Given the description of an element on the screen output the (x, y) to click on. 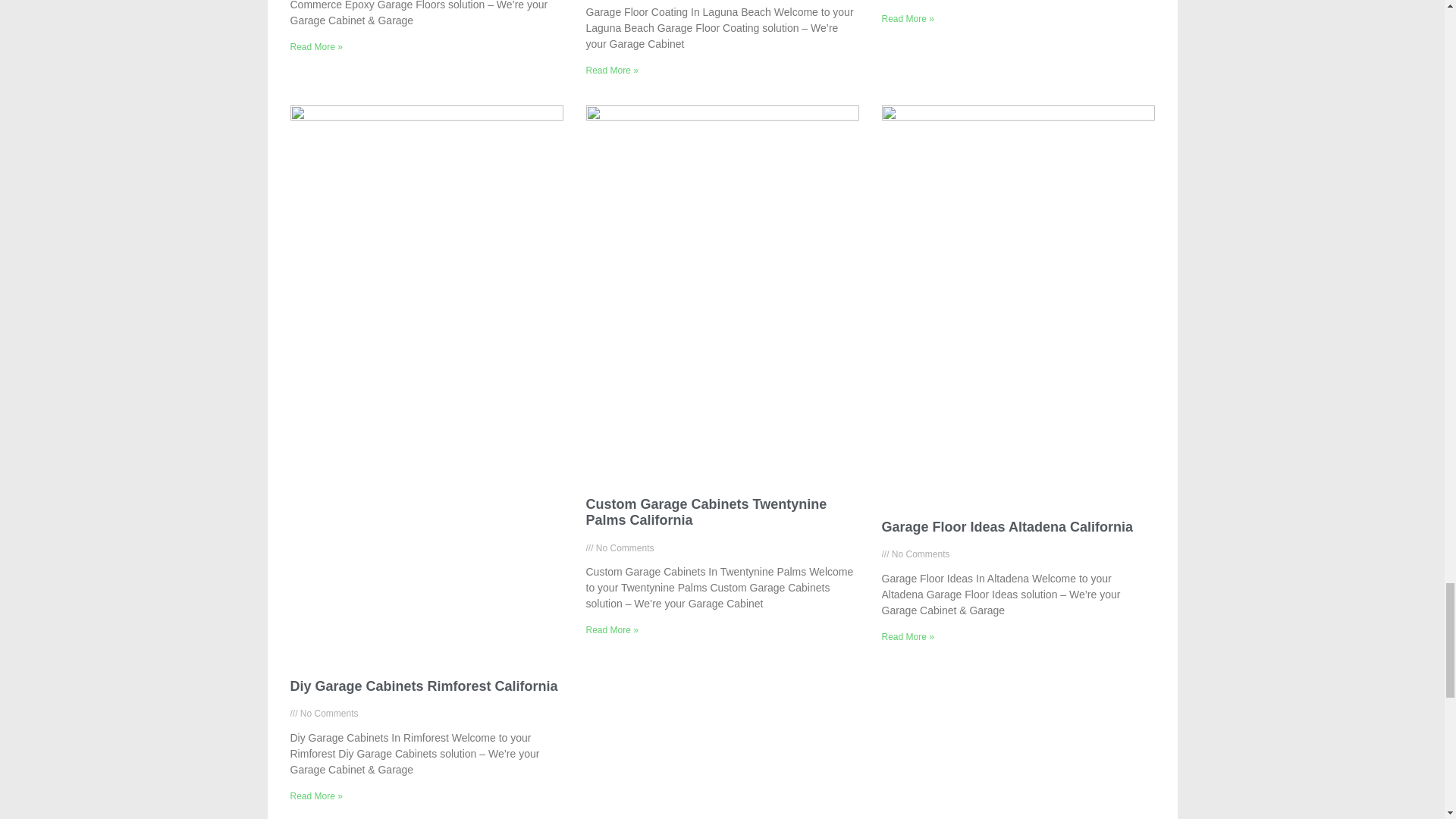
Garage Floor Ideas Altadena California (1006, 526)
Diy Garage Cabinets Rimforest California (423, 685)
Custom Garage Cabinets Twentynine Palms California (706, 511)
